Given the description of an element on the screen output the (x, y) to click on. 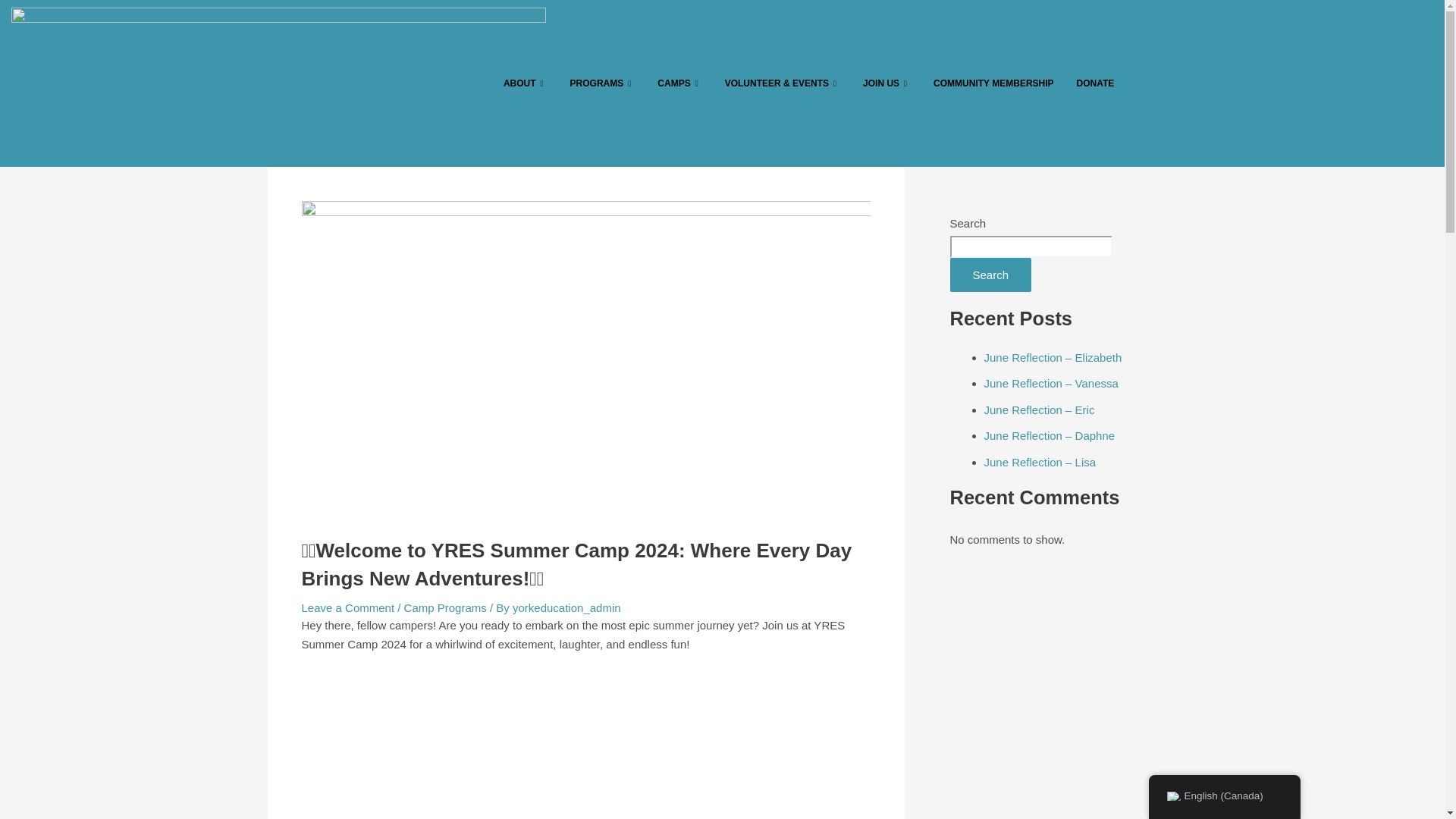
PROGRAMS (602, 83)
ABOUT (525, 83)
CAMPS (679, 83)
